Given the description of an element on the screen output the (x, y) to click on. 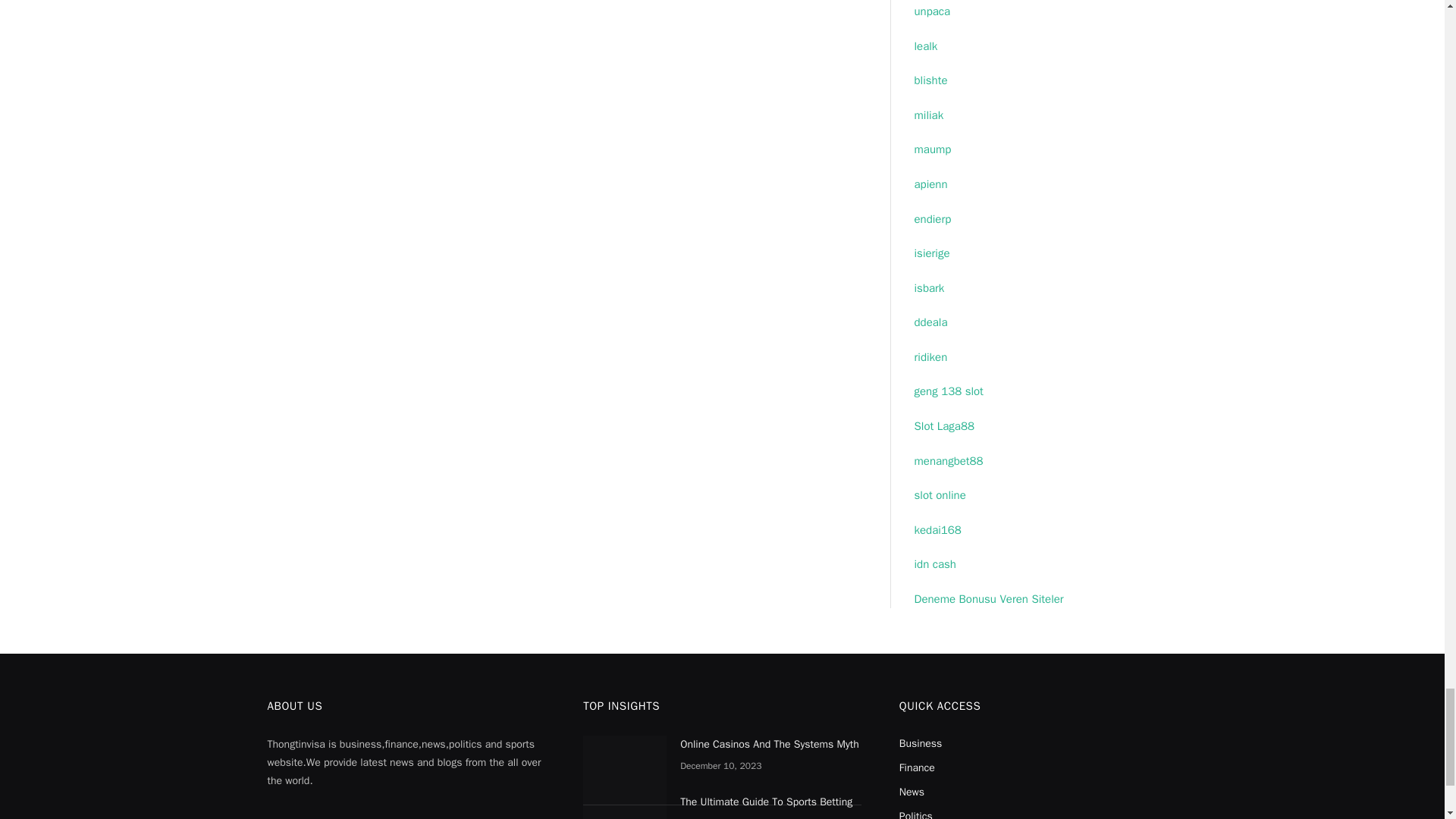
Online Casinos And The Systems Myth (624, 764)
